Given the description of an element on the screen output the (x, y) to click on. 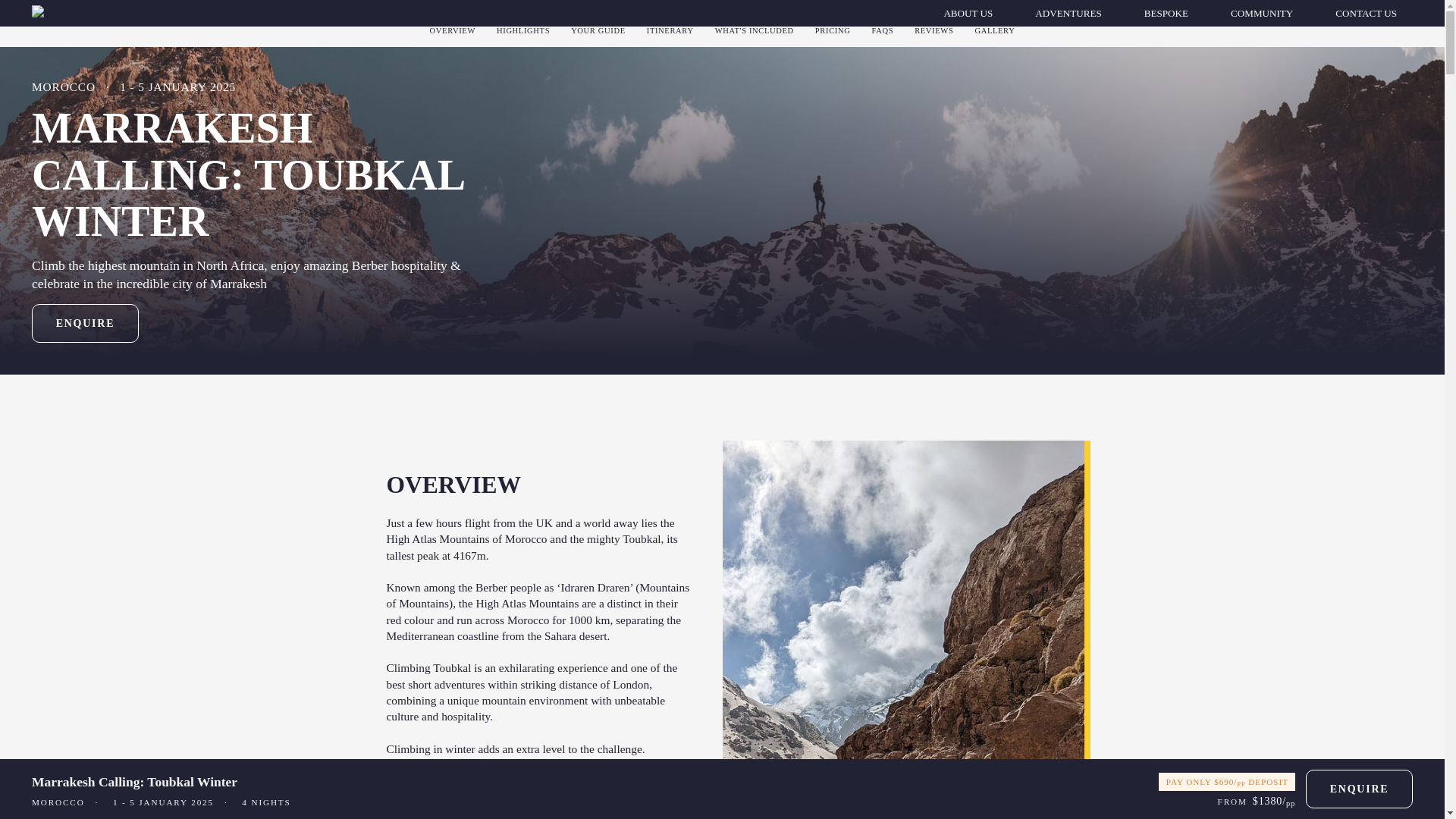
ADVENTURES (1067, 13)
ABOUT US (968, 13)
CONTACT US (1365, 13)
BESPOKE (1166, 13)
COMMUNITY (1261, 13)
